Given the description of an element on the screen output the (x, y) to click on. 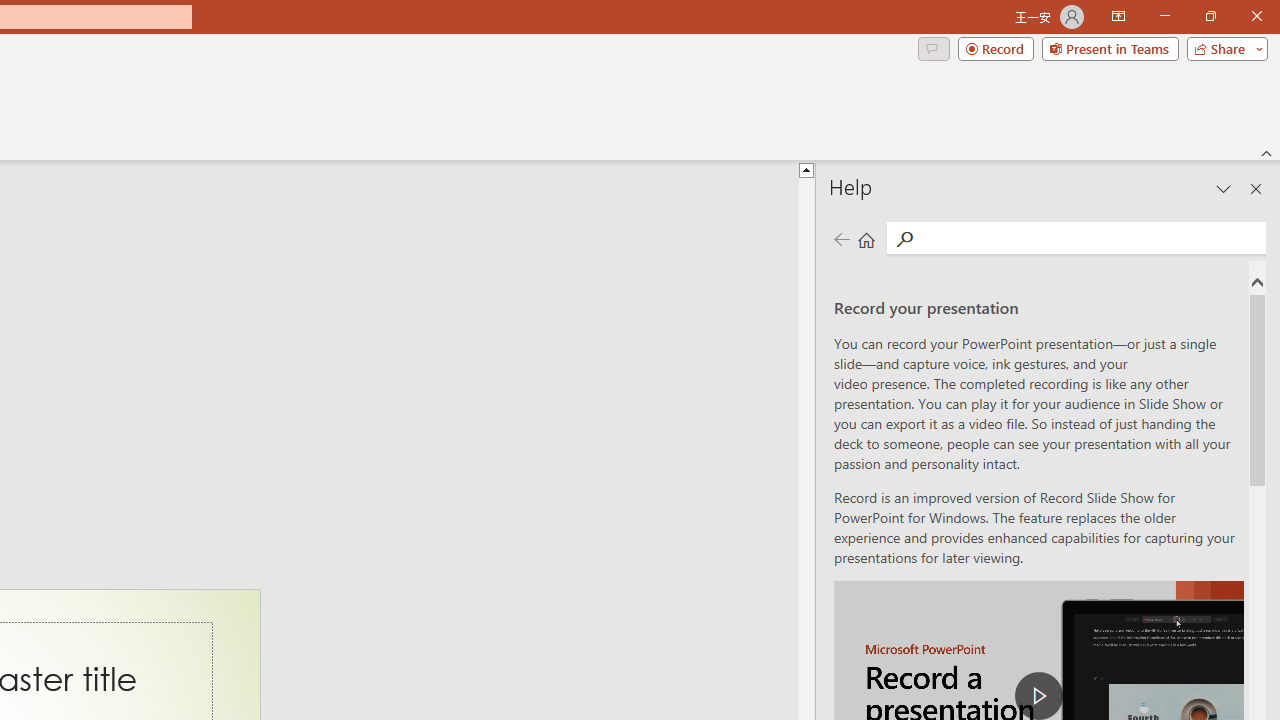
Previous page (841, 238)
play Record a Presentation (1038, 695)
